Given the description of an element on the screen output the (x, y) to click on. 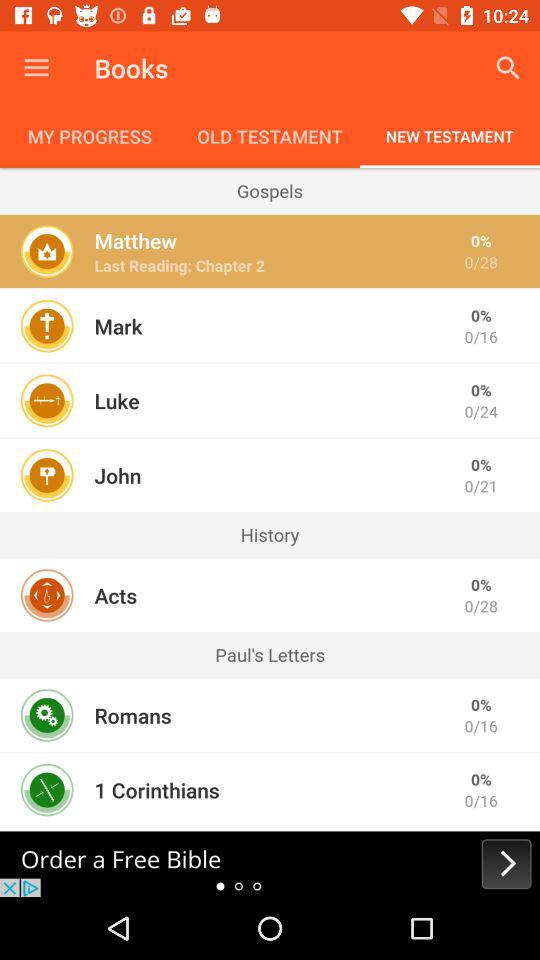
flip until the matthew icon (135, 240)
